Given the description of an element on the screen output the (x, y) to click on. 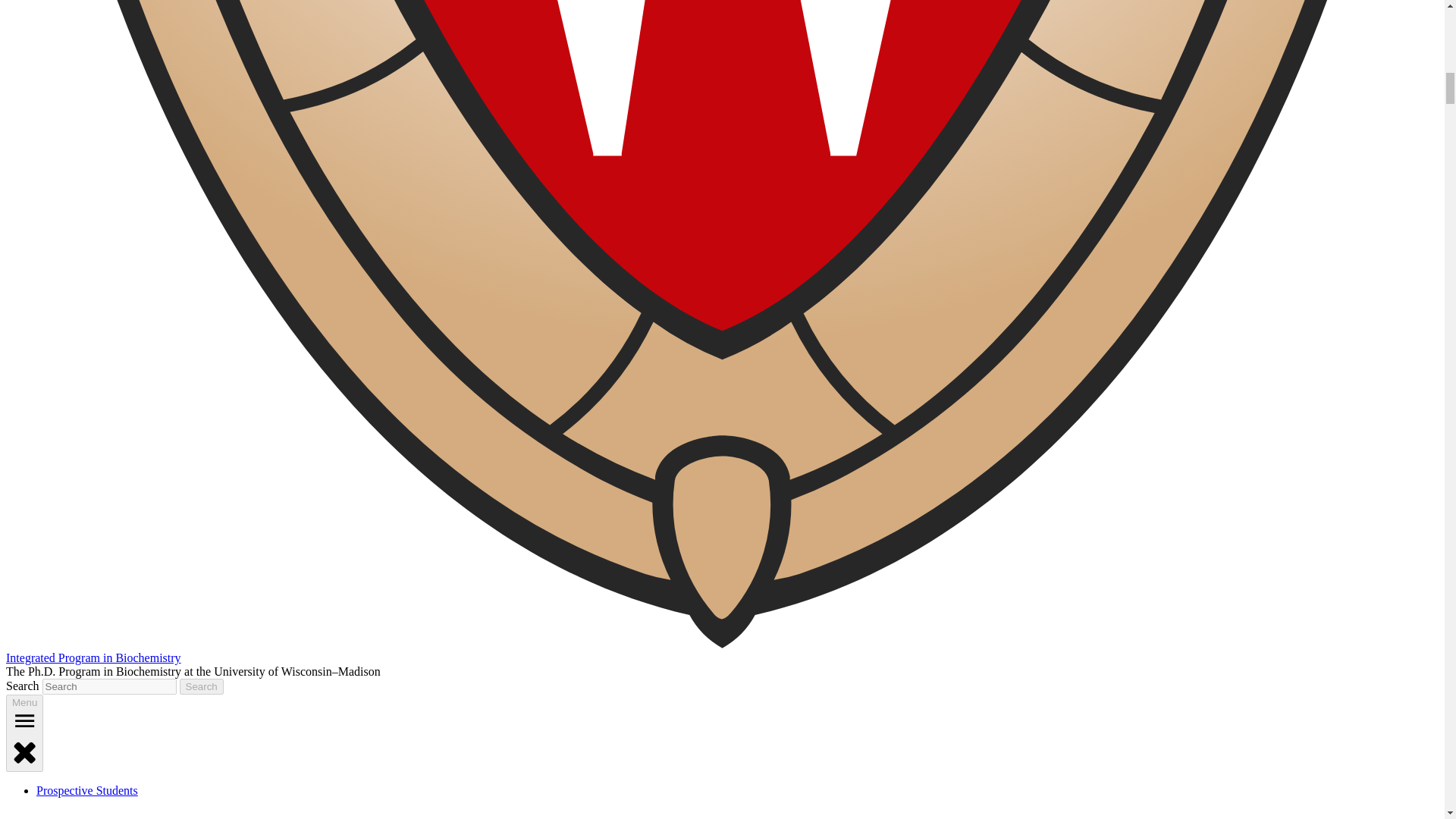
Search (201, 686)
Search (201, 686)
Search (201, 686)
open menu (24, 720)
Integrated Program in Biochemistry (92, 657)
